Given the description of an element on the screen output the (x, y) to click on. 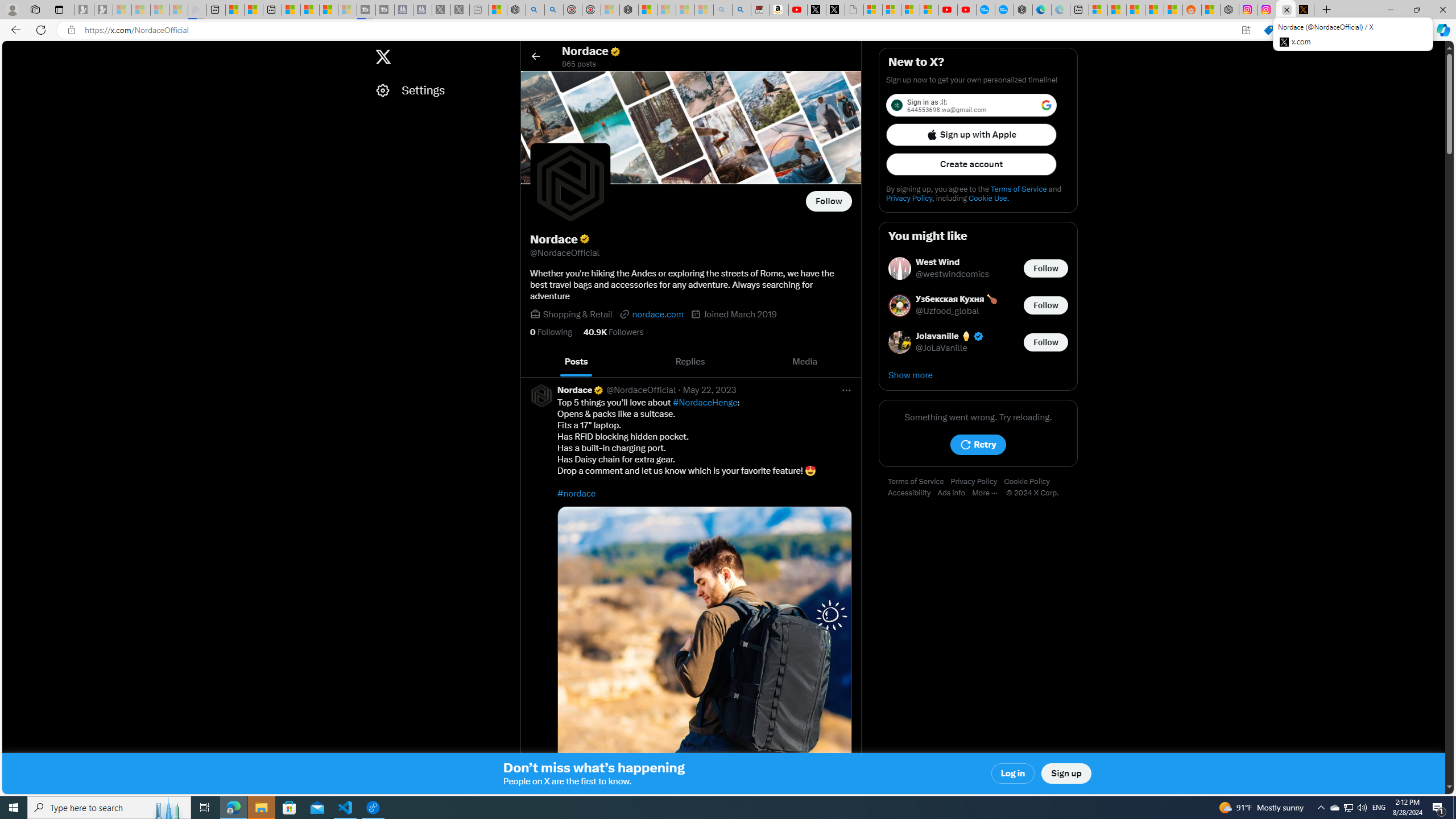
Newsletter Sign Up - Sleeping (102, 9)
This site has coupons! Shopping in Microsoft Edge (1268, 29)
help.x.com | 524: A timeout occurred (1304, 9)
Retry (978, 444)
Untitled (853, 9)
Settings (441, 90)
@westwindcomics (952, 274)
#nordace (576, 493)
